Given the description of an element on the screen output the (x, y) to click on. 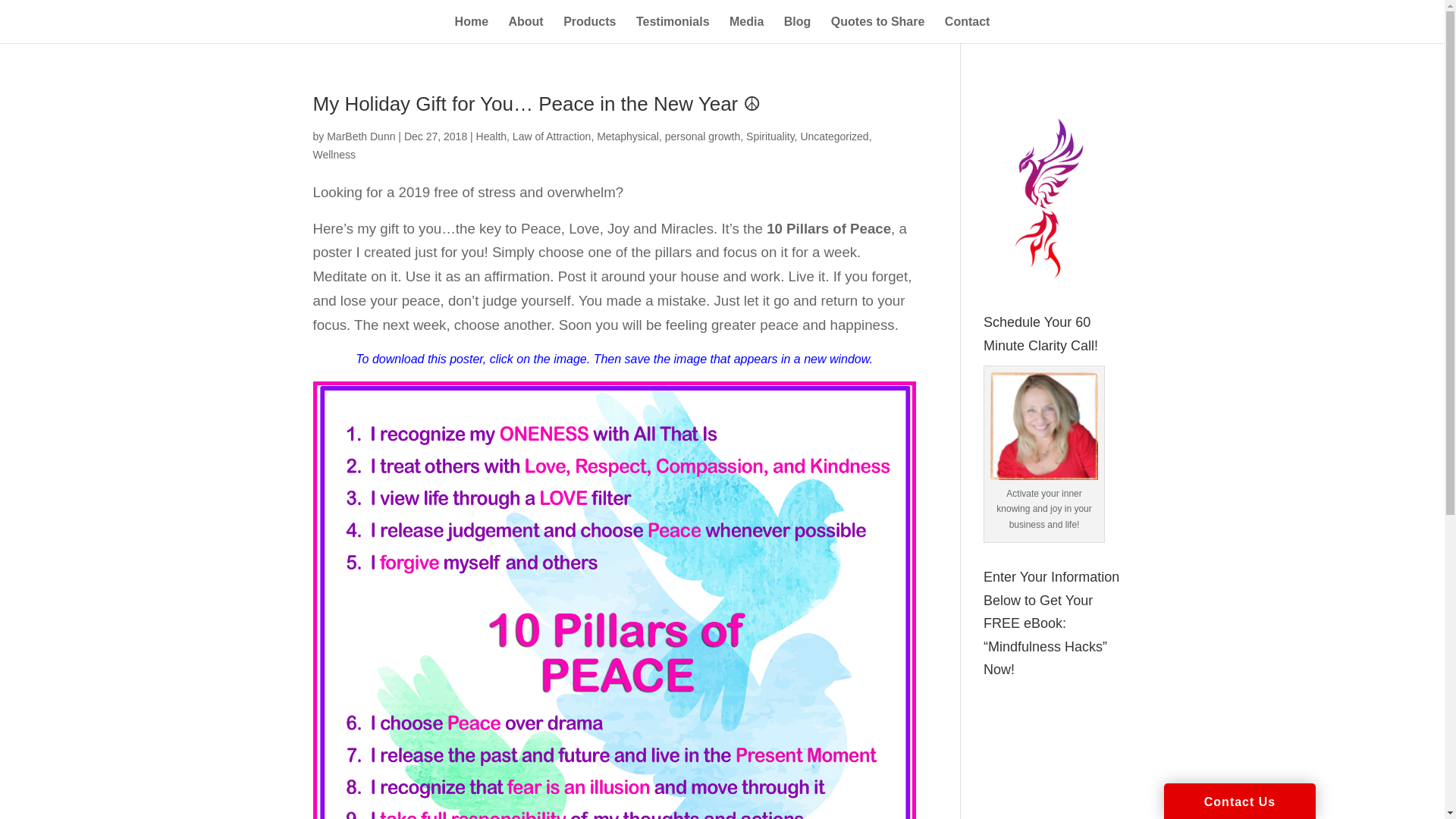
Schedule Your 60 Minute Clarity Call! (1043, 425)
About (525, 27)
Contact (967, 27)
Metaphysical (627, 136)
Health (491, 136)
Contact Us (1239, 800)
personal growth (703, 136)
Quotes to Share (877, 27)
Home (470, 27)
Media (745, 27)
Spirituality (769, 136)
Posts by MarBeth Dunn (360, 136)
Wellness (334, 154)
Law of Attraction (551, 136)
Uncategorized (833, 136)
